Given the description of an element on the screen output the (x, y) to click on. 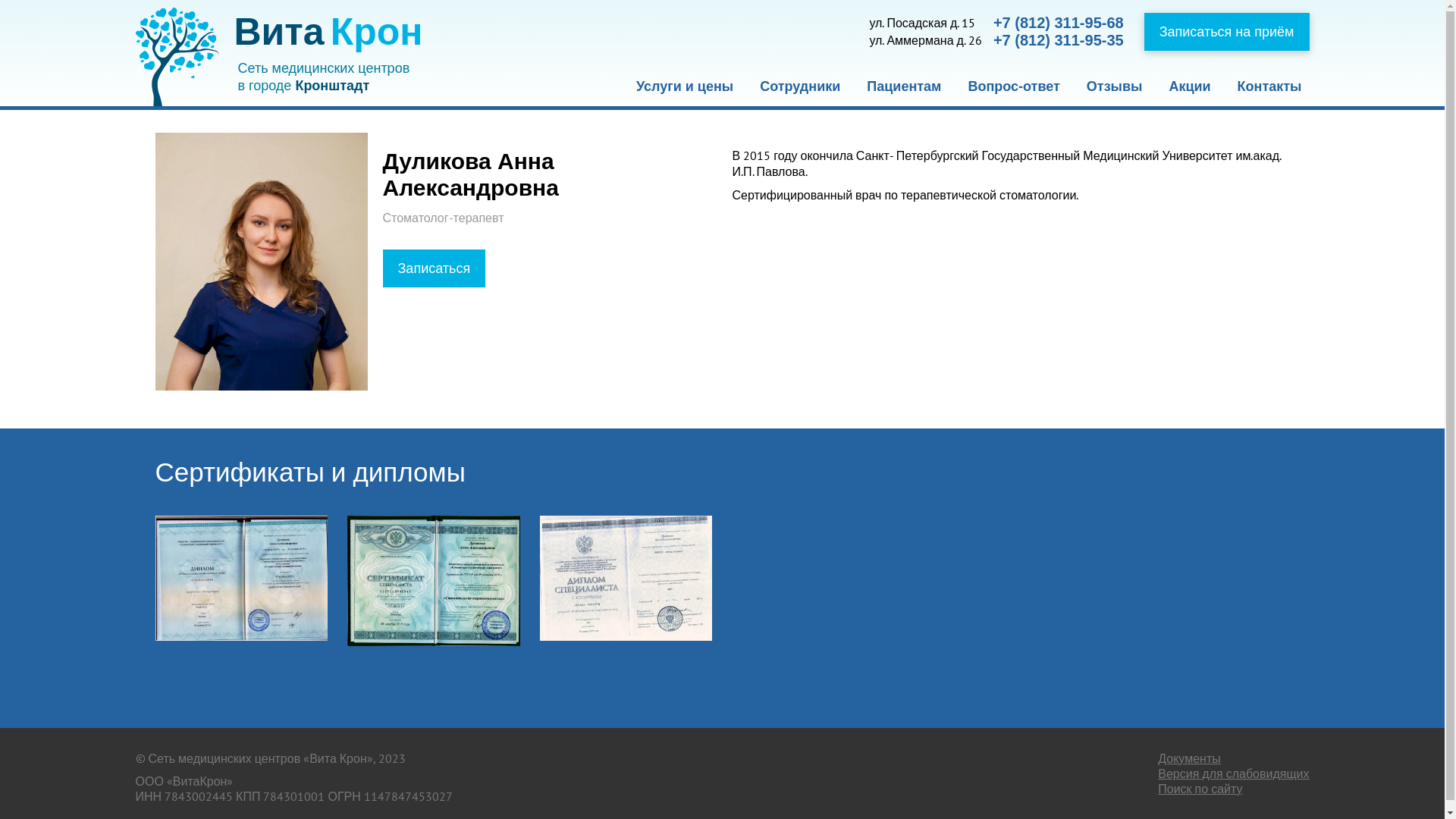
+7 (812) 311-95-68 Element type: text (1058, 22)
+7 (812) 311-95-35 Element type: text (1058, 40)
